Given the description of an element on the screen output the (x, y) to click on. 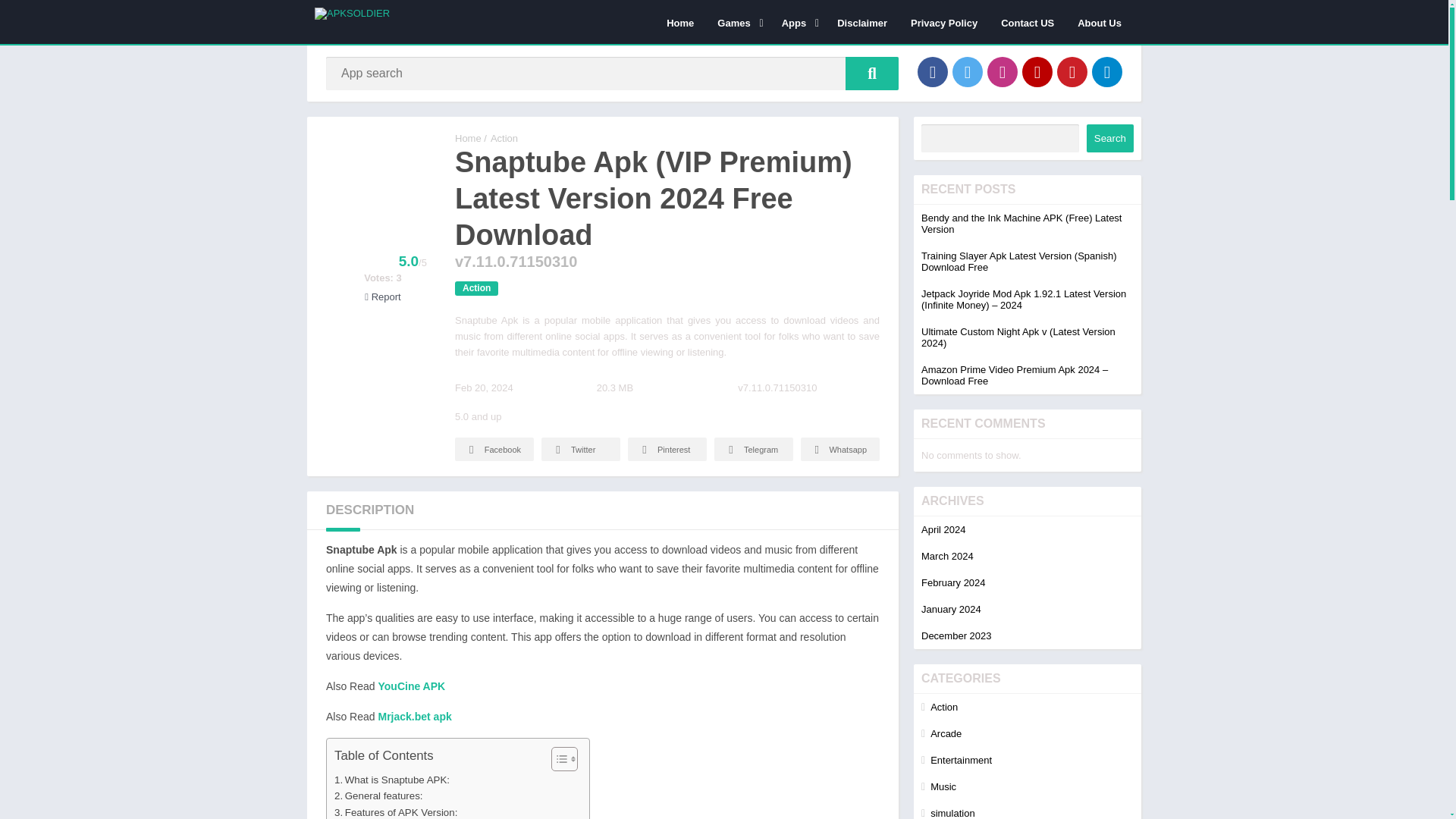
Action (475, 288)
General features: (378, 795)
Disclaimer (861, 22)
Action (504, 138)
Whatsapp (839, 449)
Instagram (1002, 71)
Telegram (1107, 71)
Twitter (580, 449)
Home (679, 22)
Telegram (753, 449)
